Given the description of an element on the screen output the (x, y) to click on. 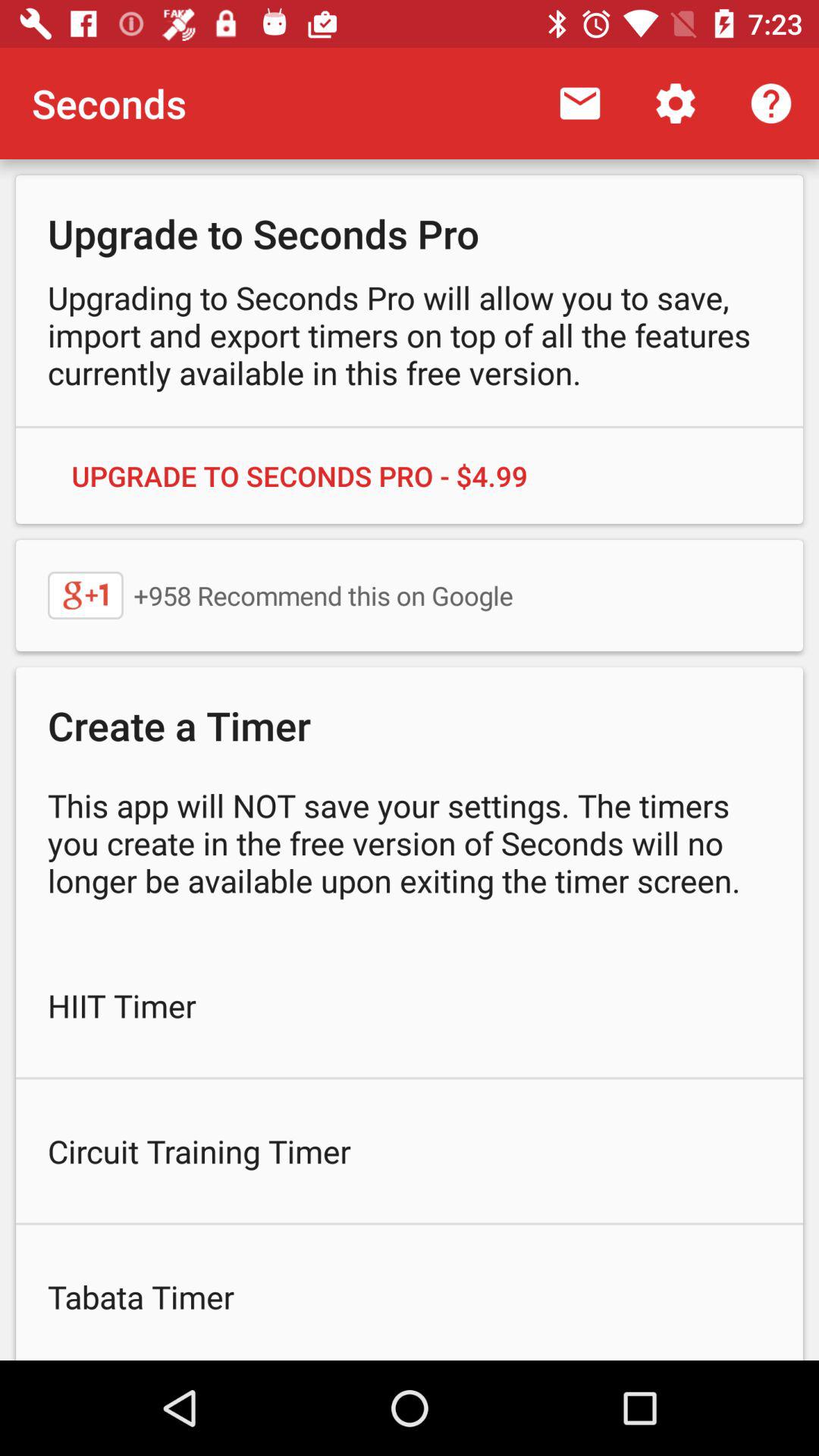
turn on the icon above upgrade to seconds (771, 103)
